Given the description of an element on the screen output the (x, y) to click on. 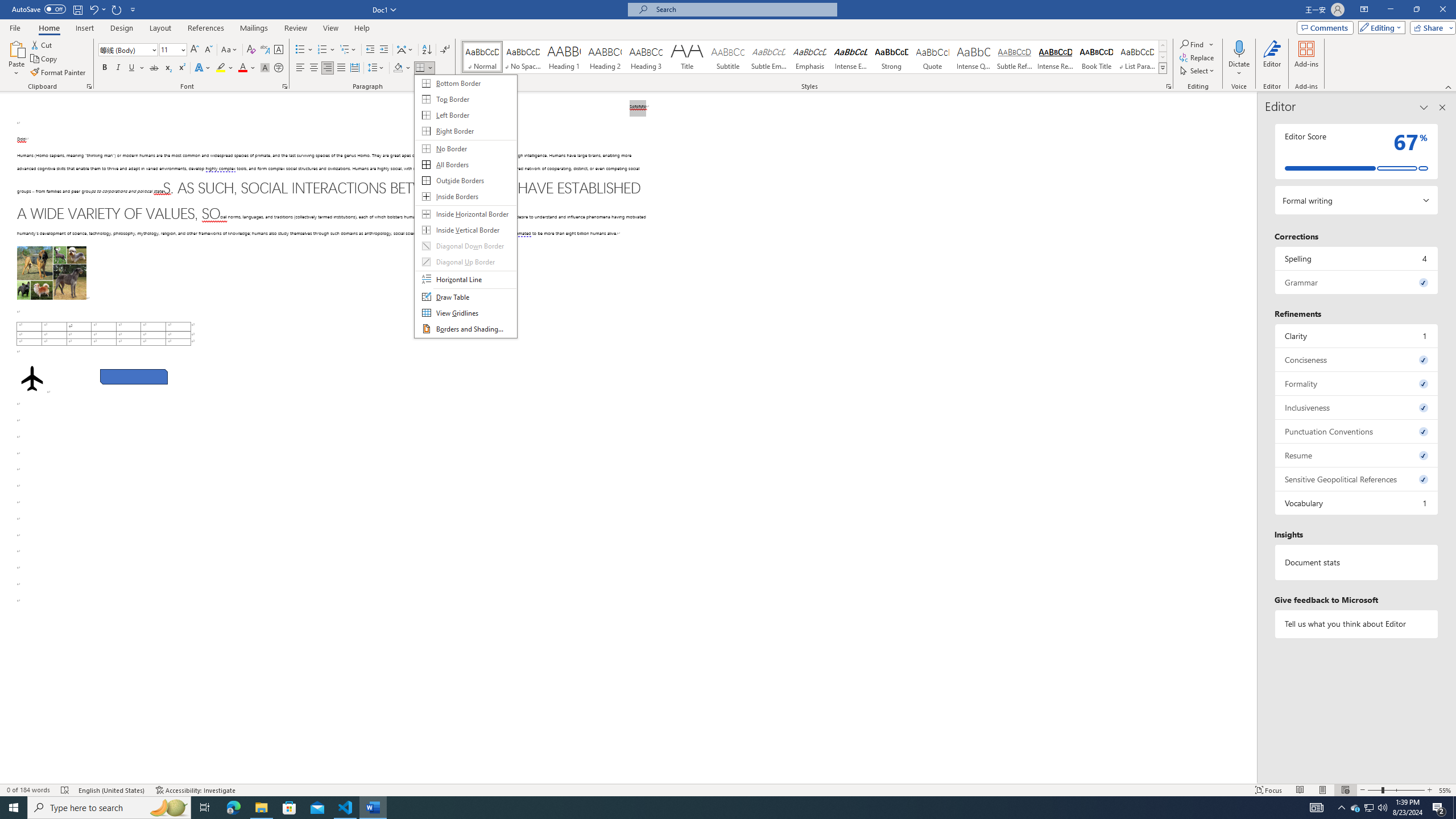
Emphasis (809, 56)
Intense Quote (973, 56)
Insert (83, 28)
Undo Paragraph Alignment (92, 9)
Superscript (180, 67)
Show/Hide Editing Marks (444, 49)
Close (1442, 9)
Editor Score 67% (1356, 151)
Type here to search (108, 807)
Text Effects and Typography (202, 67)
Editing (1379, 27)
Read Mode (1299, 790)
Font Size (172, 49)
Vocabulary, 1 issue. Press space or enter to review items. (1356, 502)
